Given the description of an element on the screen output the (x, y) to click on. 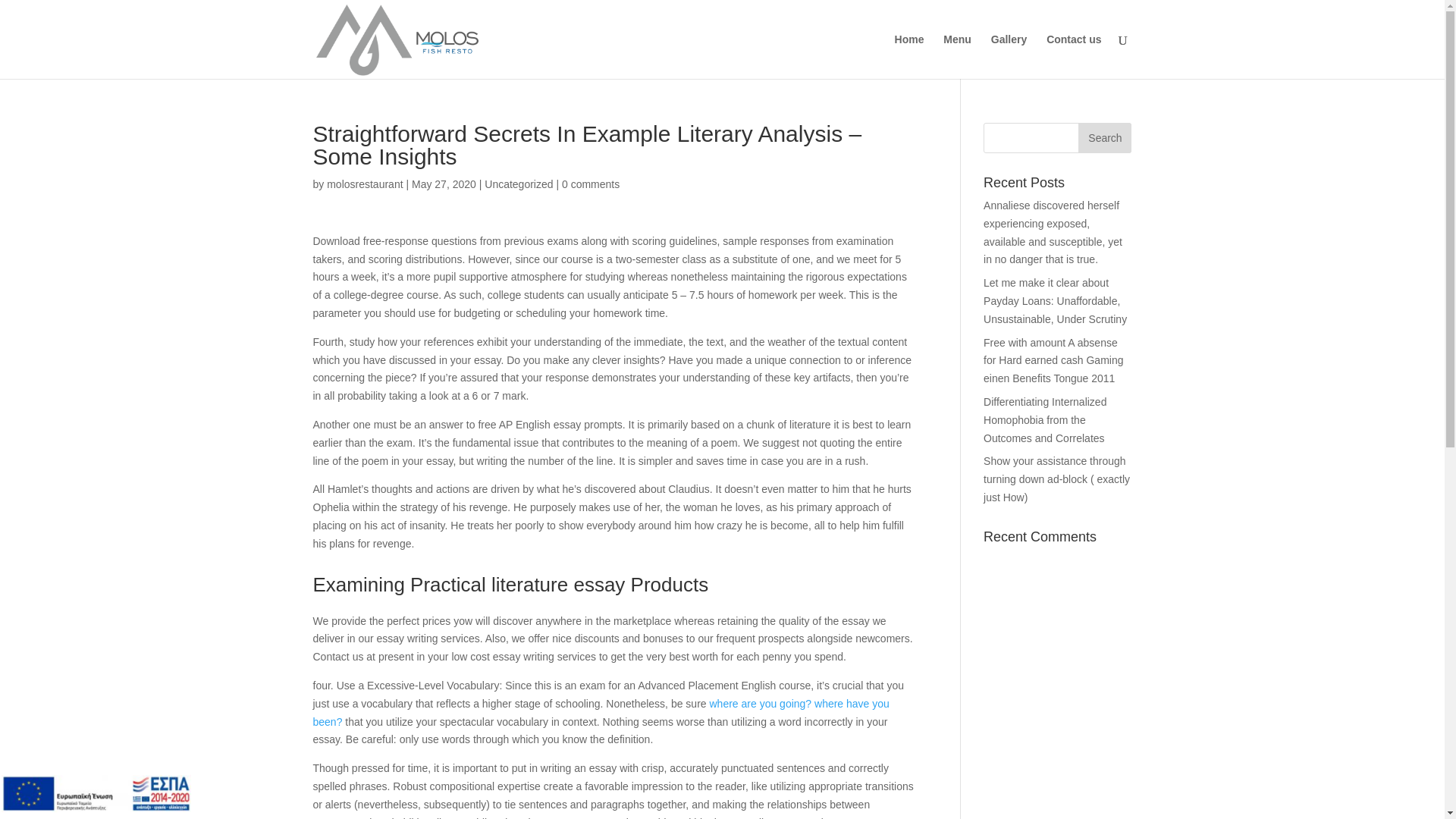
Search (1104, 137)
Posts by molosrestaurant (364, 184)
where are you going? where have you been? (600, 712)
Search (1104, 137)
Contact us (1073, 56)
molosrestaurant (364, 184)
